Given the description of an element on the screen output the (x, y) to click on. 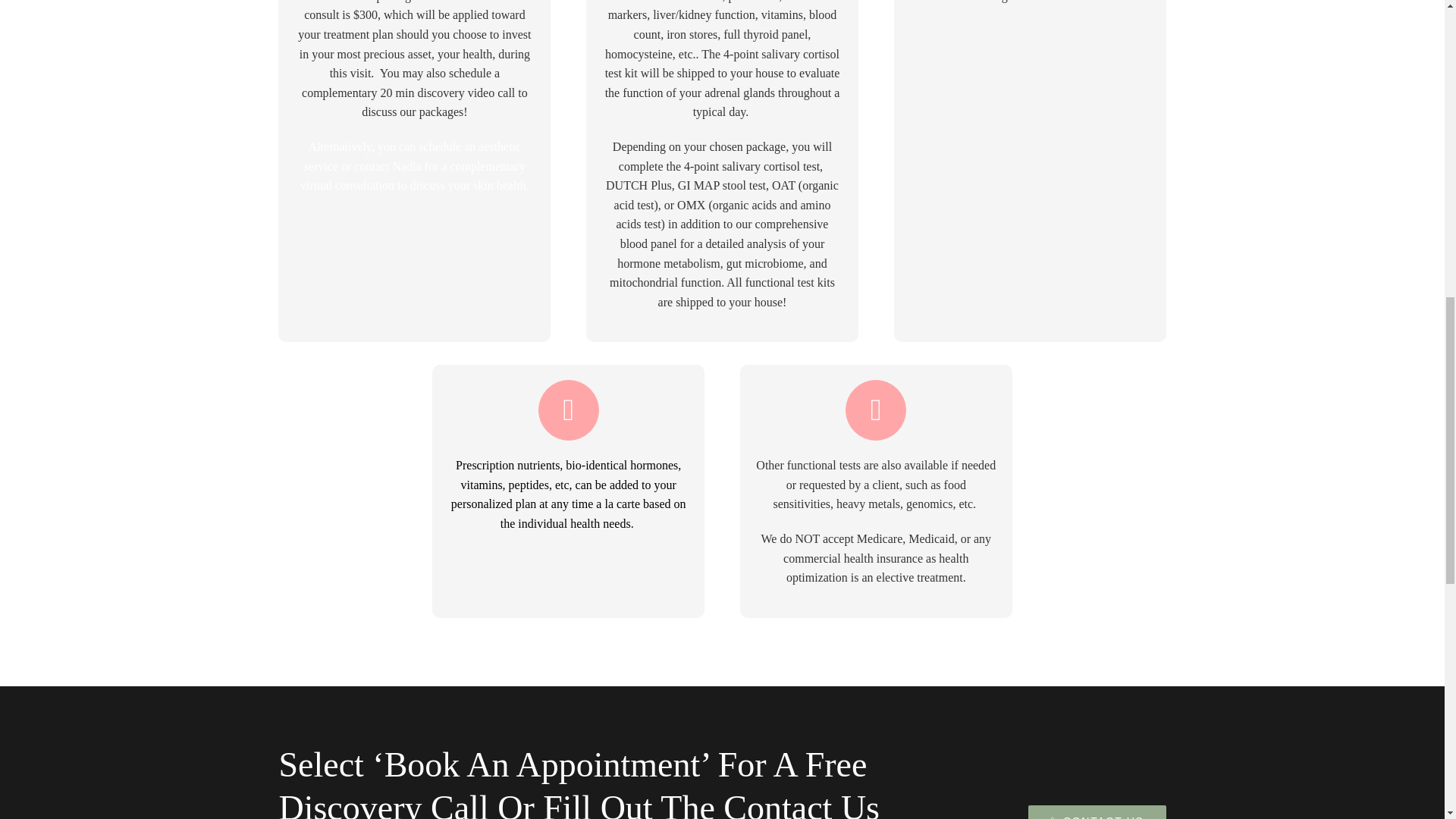
CONTACT US (1096, 812)
Contact Us (1096, 812)
